Given the description of an element on the screen output the (x, y) to click on. 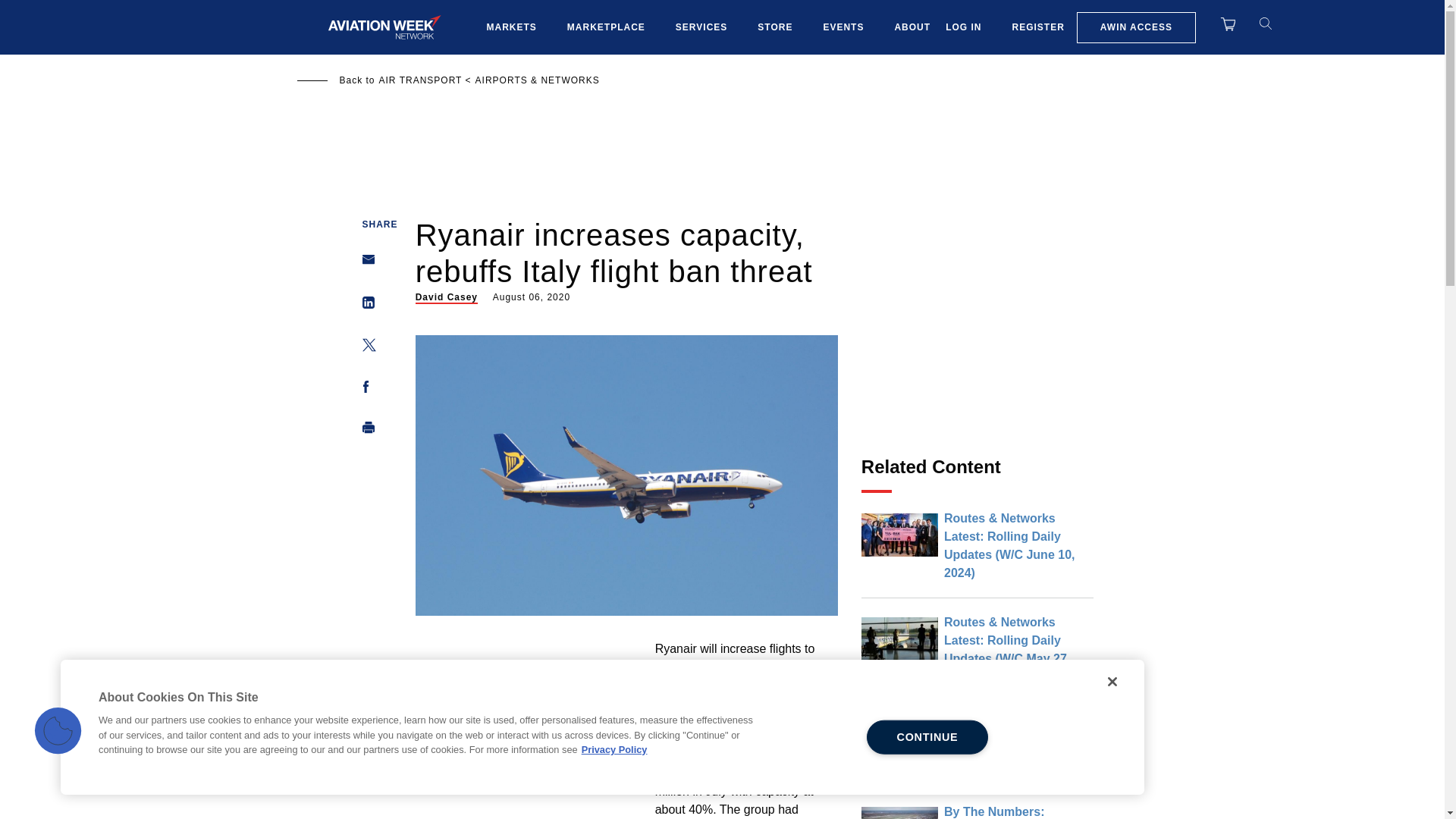
3rd party ad content (976, 335)
MARKETS (511, 27)
Cookies Button (57, 730)
3rd party ad content (528, 735)
3rd party ad content (721, 146)
